Given the description of an element on the screen output the (x, y) to click on. 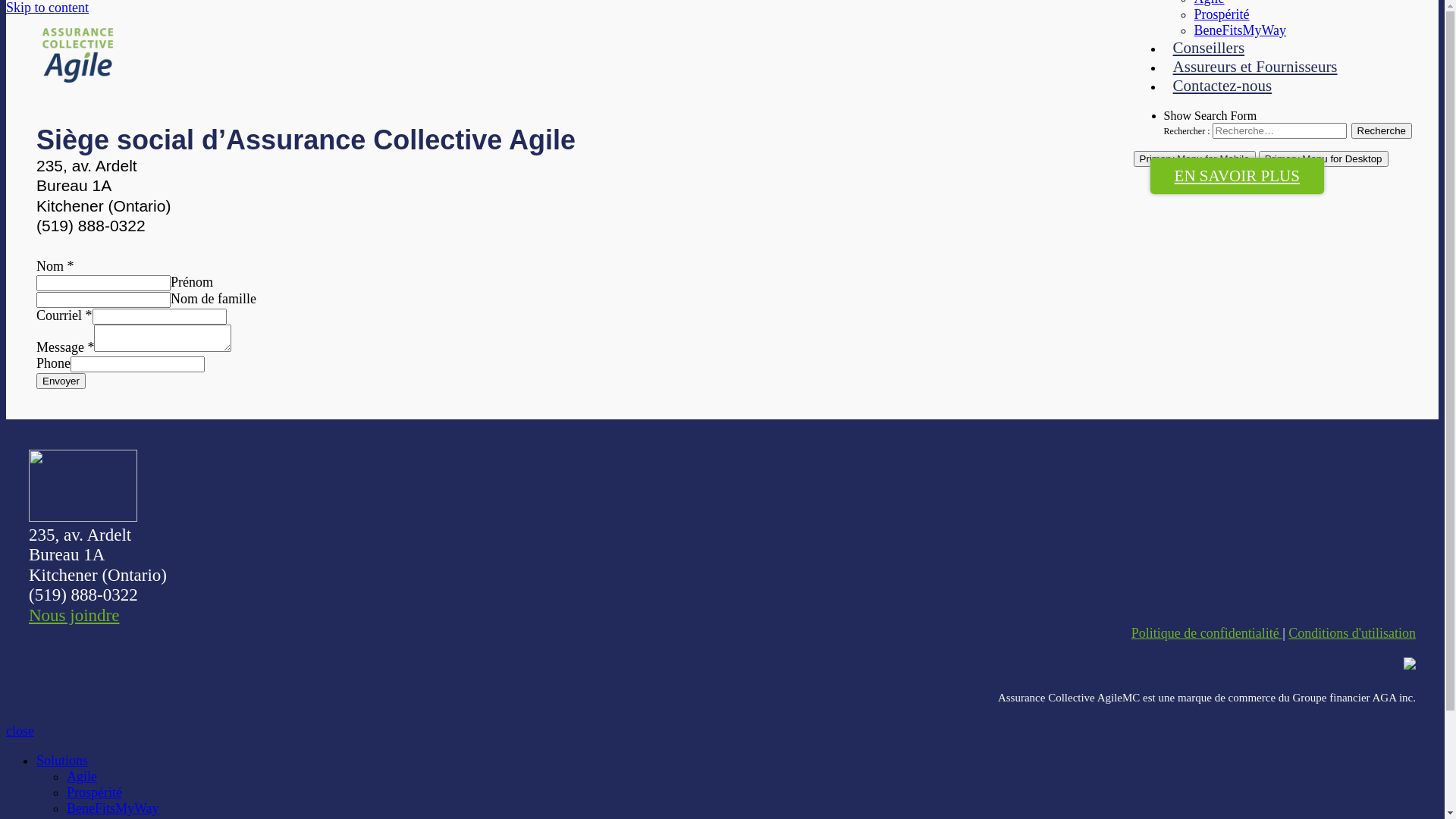
EN SAVOIR PLUS Element type: text (1237, 175)
Recherche Element type: text (1381, 130)
Conseillers Element type: text (1209, 47)
Nous joindre Element type: text (73, 614)
Assurance Collective Agile Element type: text (125, 94)
Primary Menu for Desktop Element type: text (1323, 158)
Primary Menu for Mobile Element type: text (1194, 158)
close Element type: text (20, 730)
BeneFitsMyWay Element type: text (1240, 29)
Skip to content Element type: text (47, 7)
Contactez-nous Element type: text (1222, 85)
Solutions Element type: text (61, 760)
Envoyer Element type: text (60, 381)
Agile Element type: text (81, 776)
Assureurs et Fournisseurs Element type: text (1255, 66)
BeneFitsMyWay Element type: text (112, 807)
Conditions d'utilisation Element type: text (1351, 632)
